Given the description of an element on the screen output the (x, y) to click on. 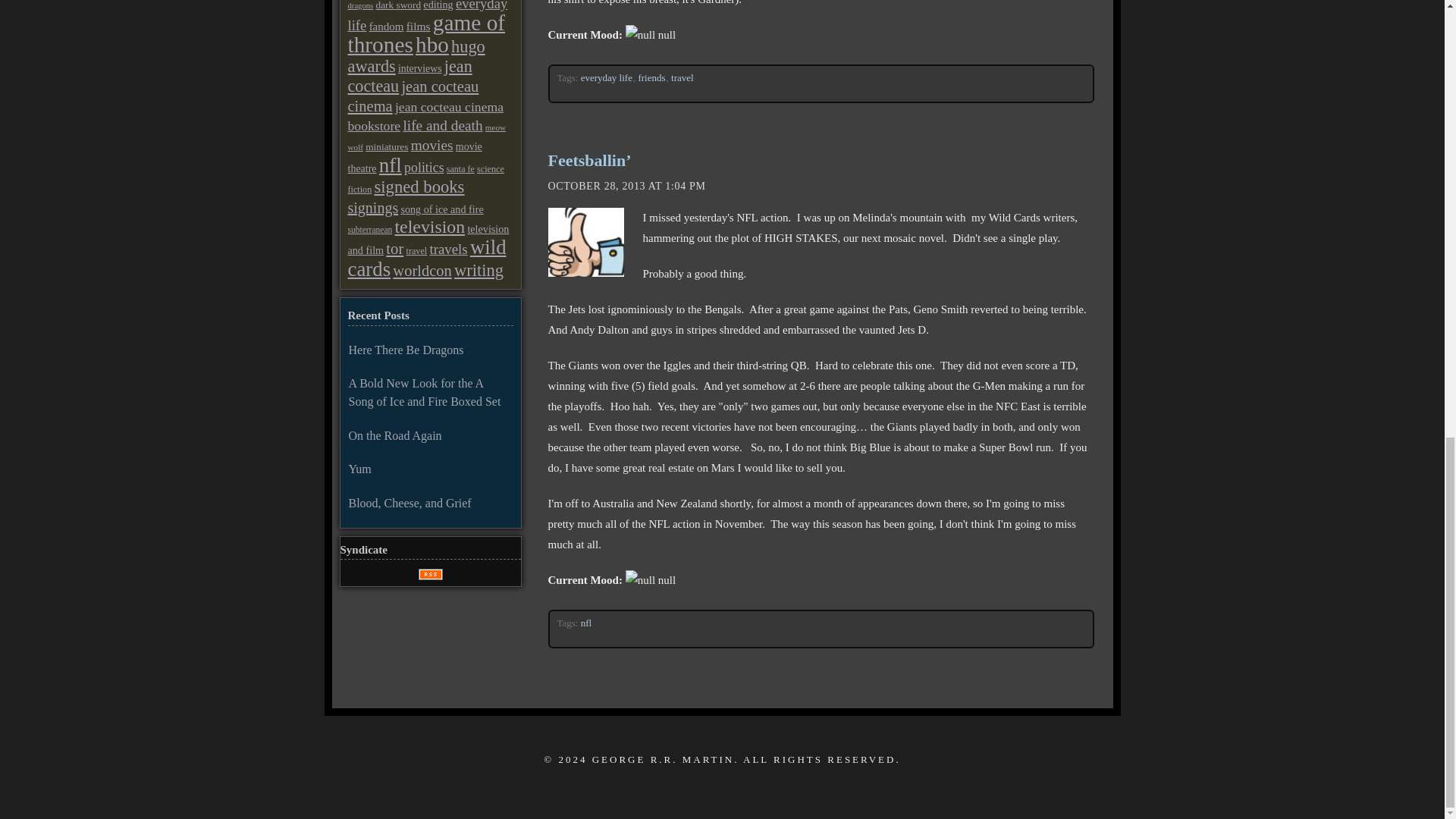
travel (682, 77)
nfl (586, 622)
friends (651, 77)
everyday life (606, 77)
